Given the description of an element on the screen output the (x, y) to click on. 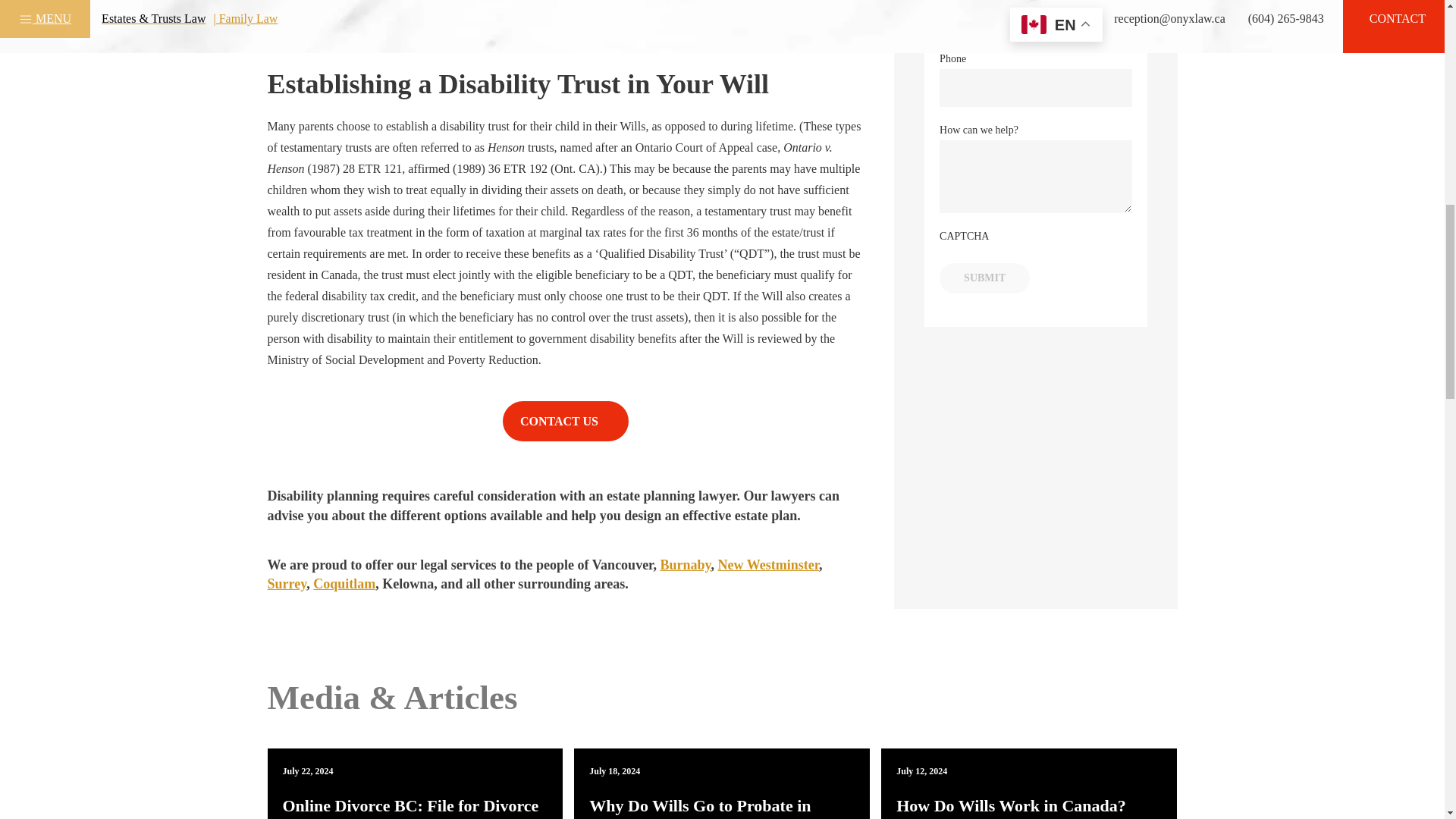
Burnaby (684, 564)
Coquitlam (344, 583)
Surrey (285, 583)
CONTACT US (565, 421)
New Westminster (768, 564)
Submit (984, 277)
Submit (984, 277)
